Given the description of an element on the screen output the (x, y) to click on. 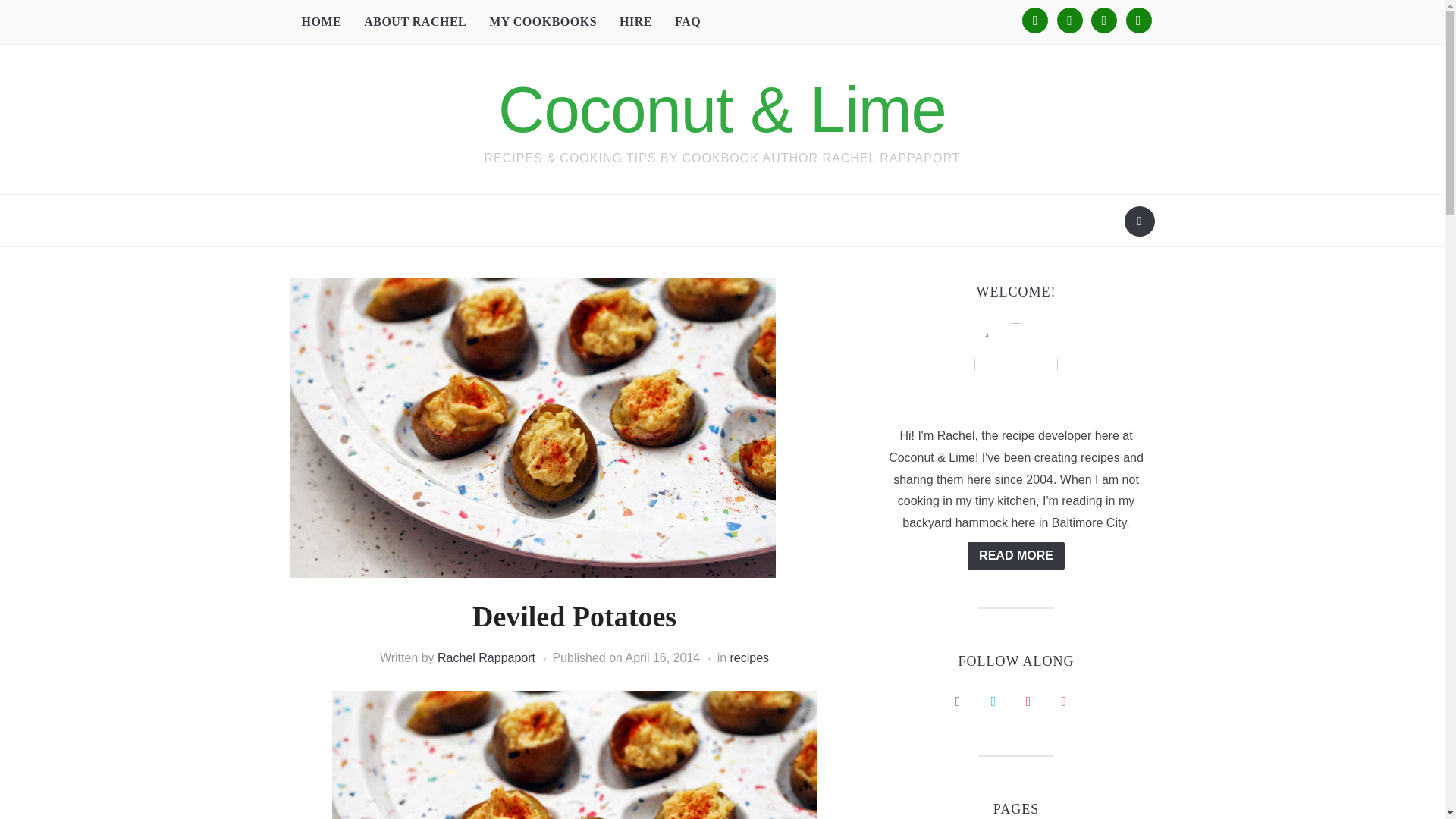
HOME (320, 21)
Facebook (1035, 19)
Rachel Rappaport (486, 657)
Twitter (1070, 19)
Default Label (1138, 19)
recipes (750, 657)
MY COOKBOOKS (542, 21)
HIRE (635, 21)
instagram (1103, 19)
Posts by Rachel Rappaport (486, 657)
twitter (1070, 19)
Instagram (1103, 19)
facebook (1035, 19)
Search (1139, 221)
FAQ (687, 21)
